Given the description of an element on the screen output the (x, y) to click on. 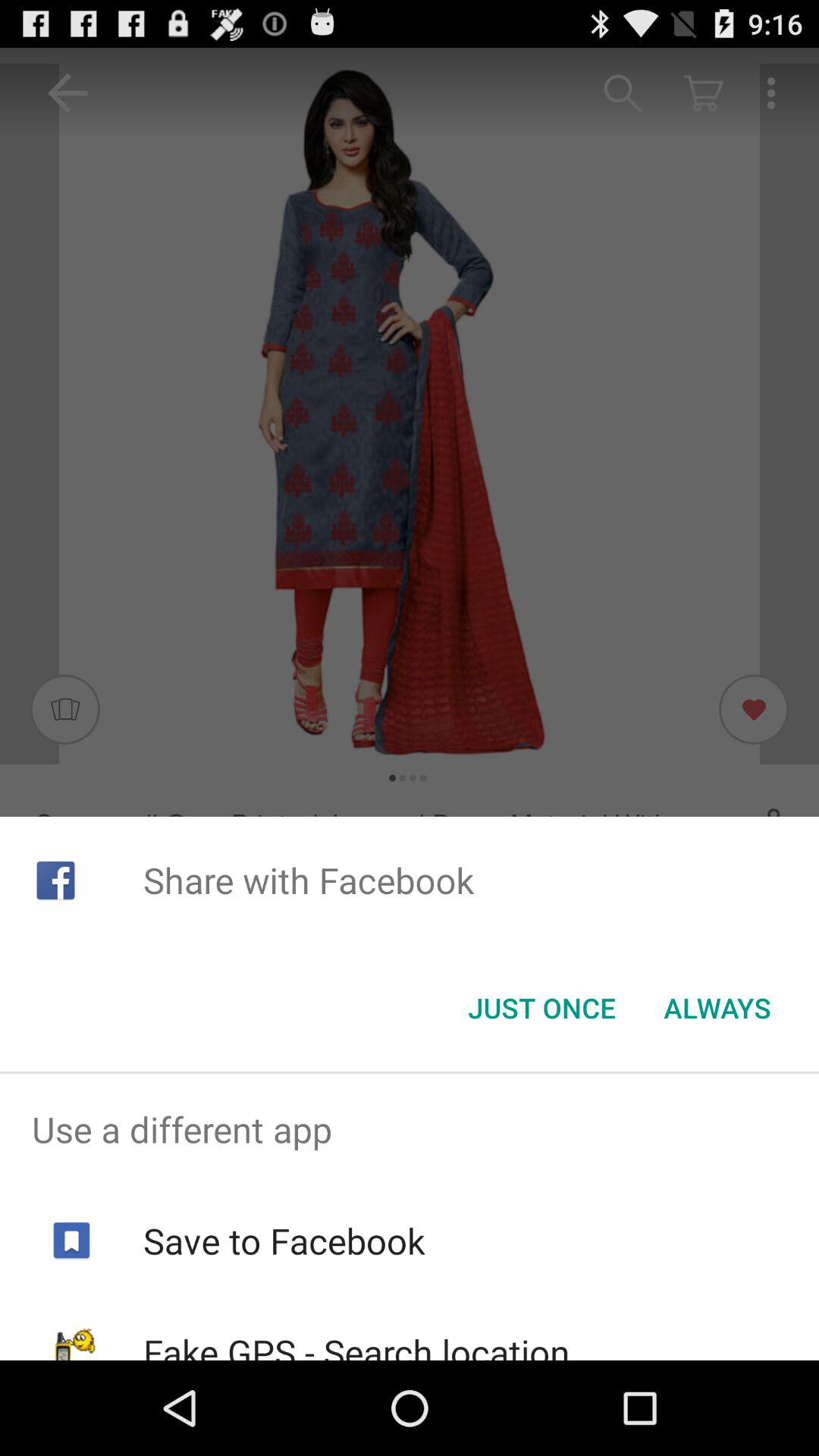
open the icon at the bottom right corner (717, 1007)
